Given the description of an element on the screen output the (x, y) to click on. 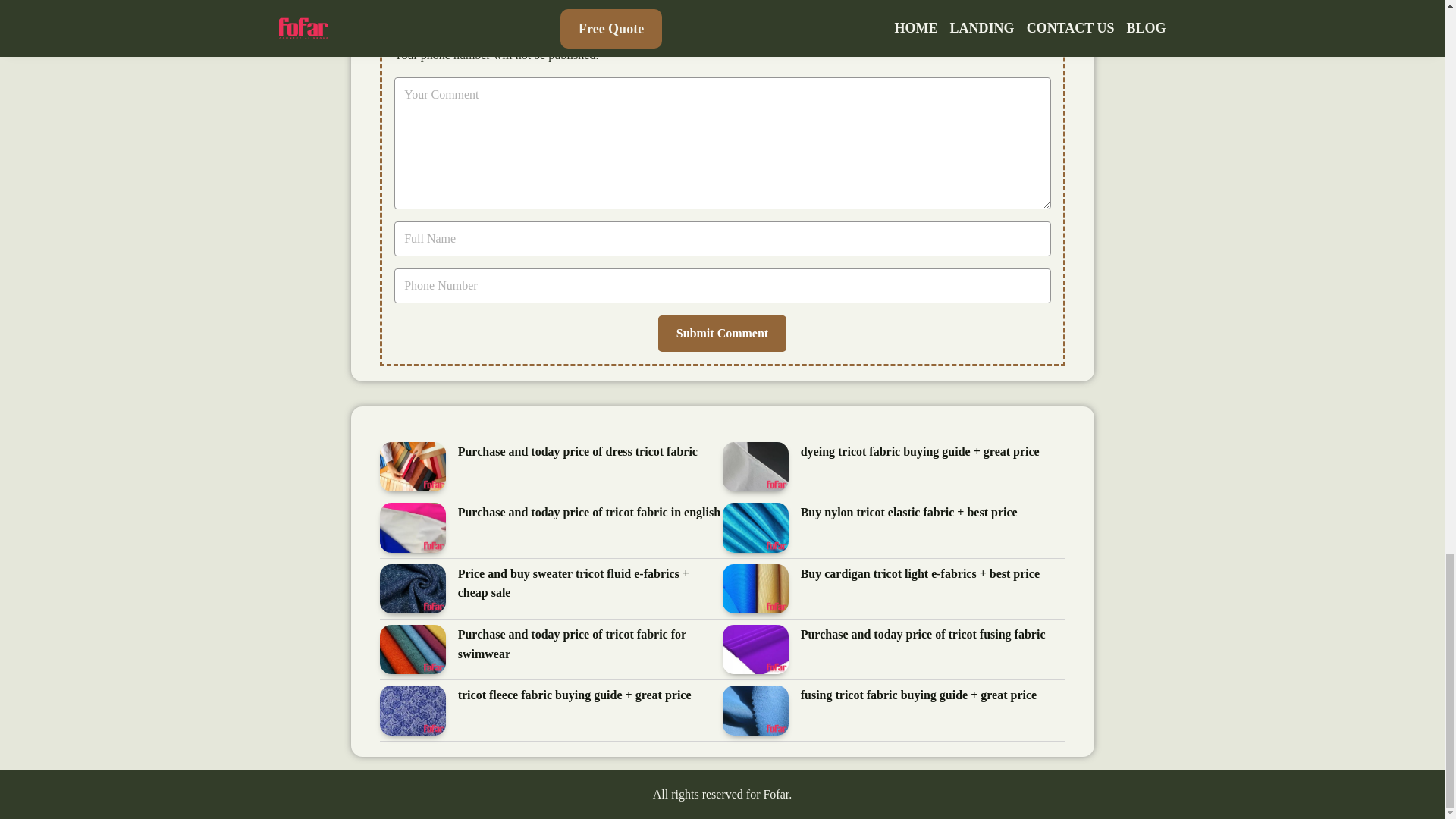
Purchase and today price of dress tricot fabric (577, 452)
Purchase and today price of tricot fabric in english (589, 512)
Submit Comment (722, 333)
Purchase and today price of tricot fusing fabric (922, 634)
Purchase and today price of tricot fabric for swimwear (590, 644)
Submit Comment (722, 333)
